Given the description of an element on the screen output the (x, y) to click on. 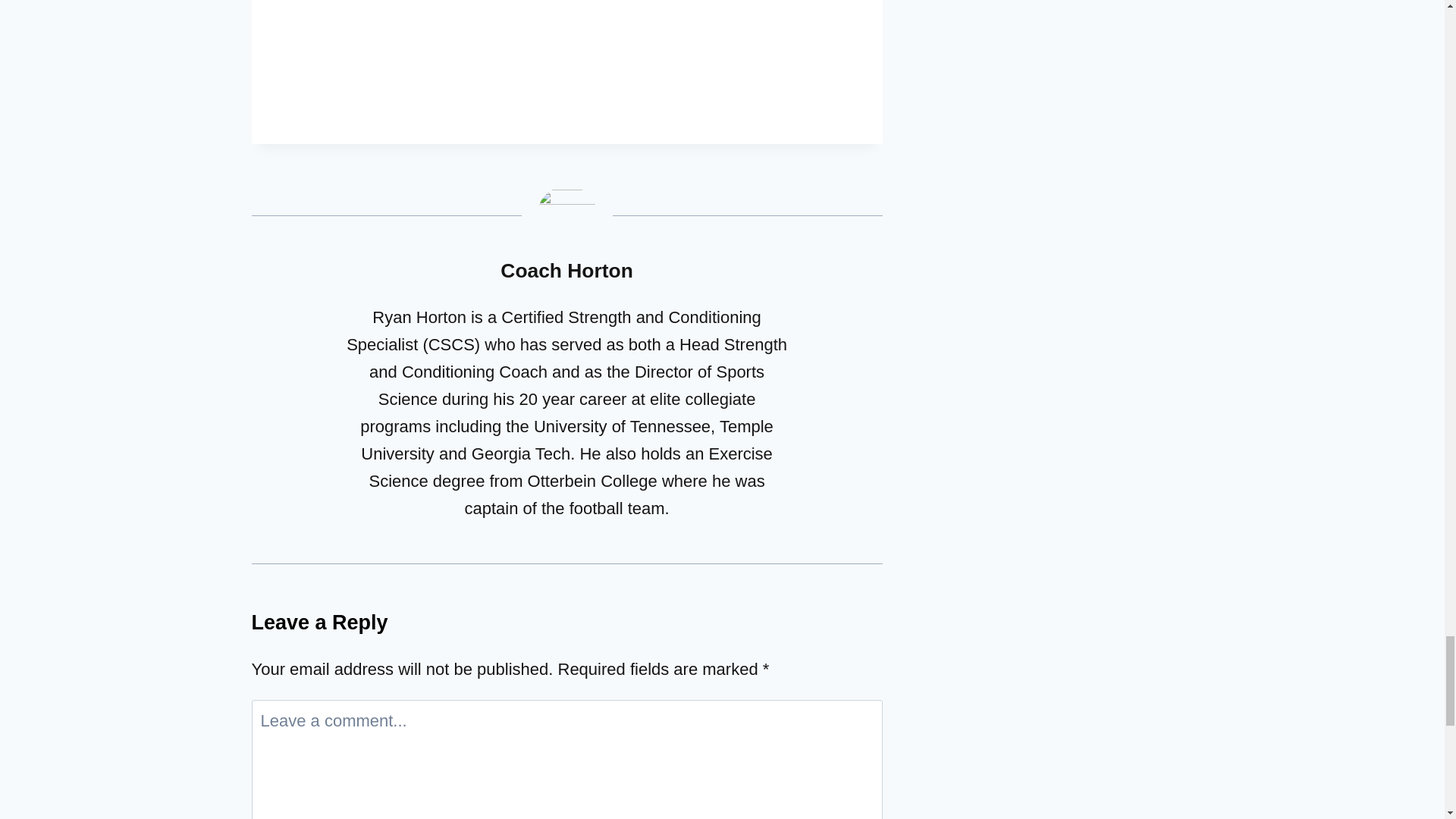
Posts by Coach Horton (565, 270)
